Given the description of an element on the screen output the (x, y) to click on. 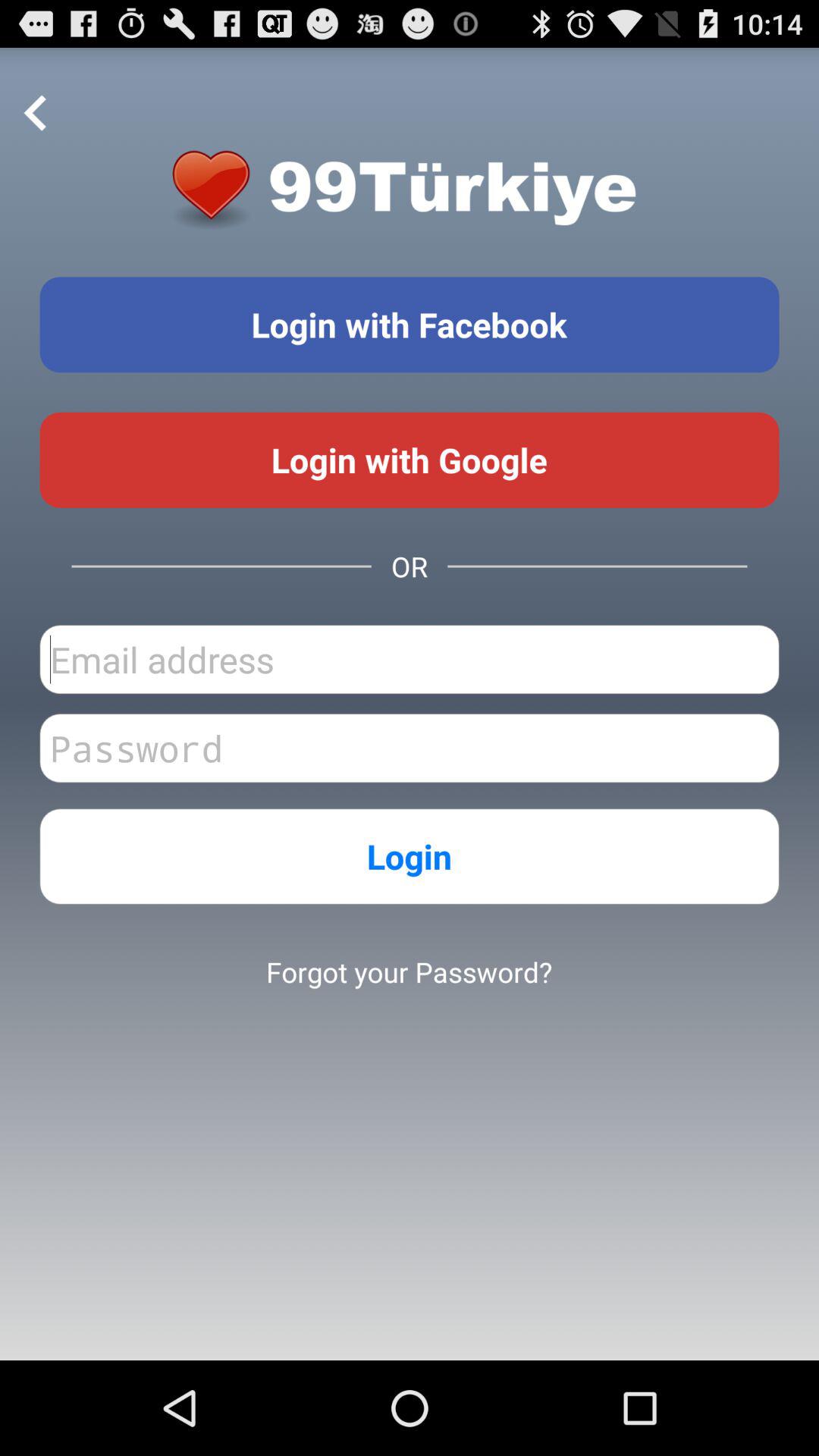
swipe until the forgot your password? (409, 971)
